Given the description of an element on the screen output the (x, y) to click on. 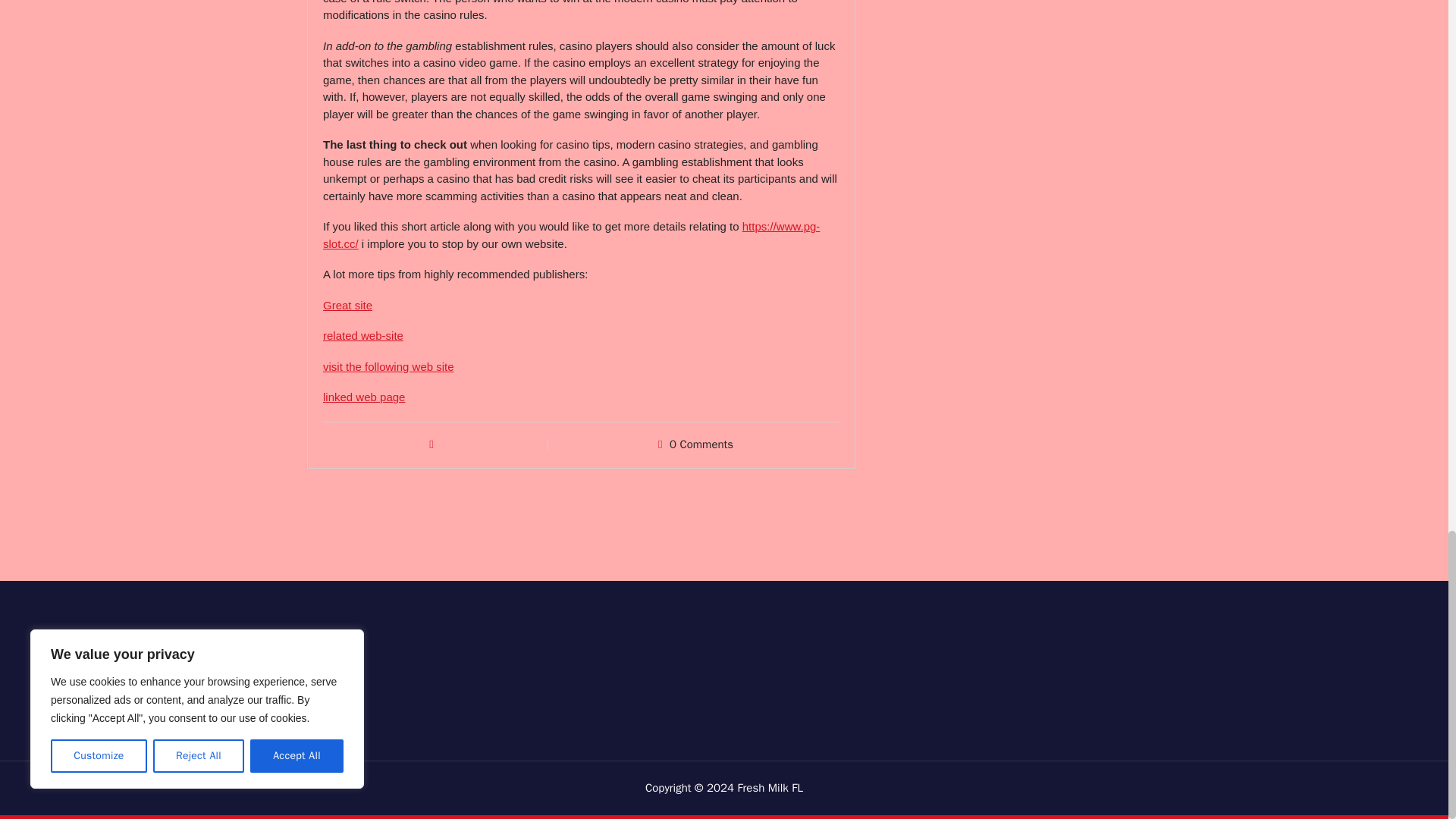
related web-site (363, 335)
visit the following web site (388, 366)
Great site (347, 305)
